Given the description of an element on the screen output the (x, y) to click on. 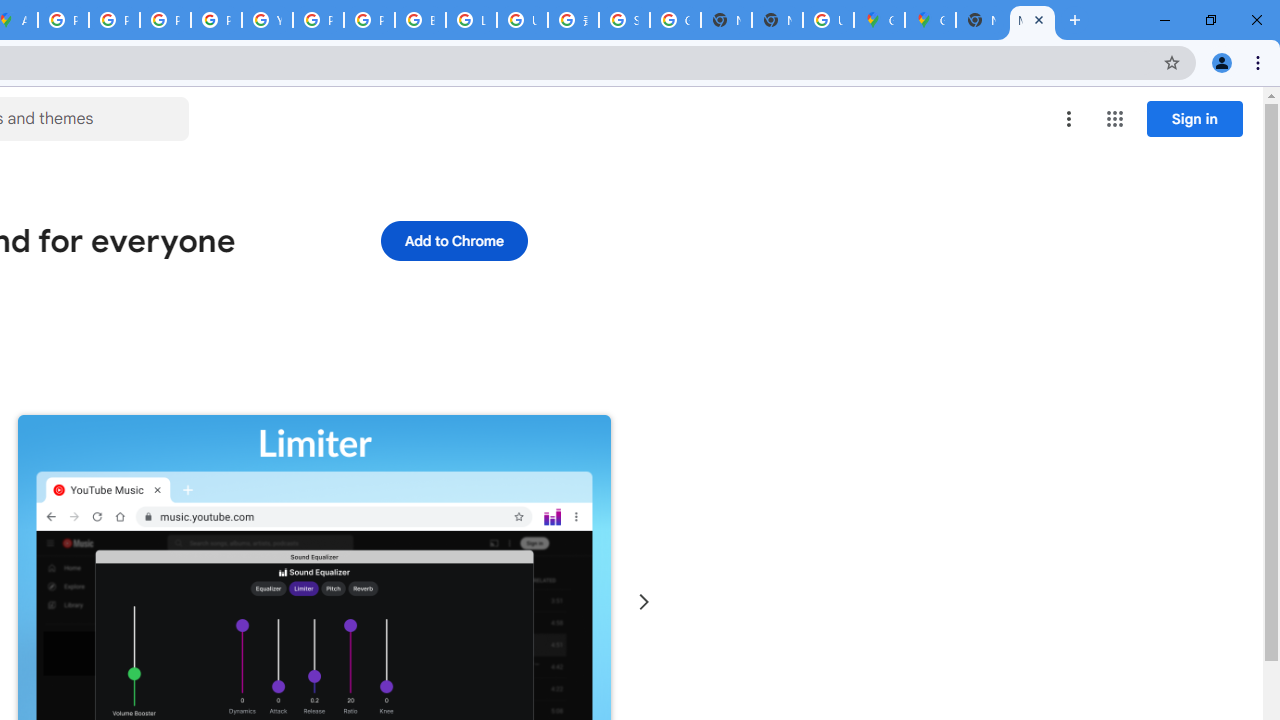
Add to Chrome (453, 240)
Privacy Help Center - Policies Help (164, 20)
Next slide (643, 601)
Browse Chrome as a guest - Computer - Google Chrome Help (420, 20)
Google Maps (930, 20)
Sign in (1194, 118)
Minimize (1165, 20)
Google apps (1114, 118)
